Given the description of an element on the screen output the (x, y) to click on. 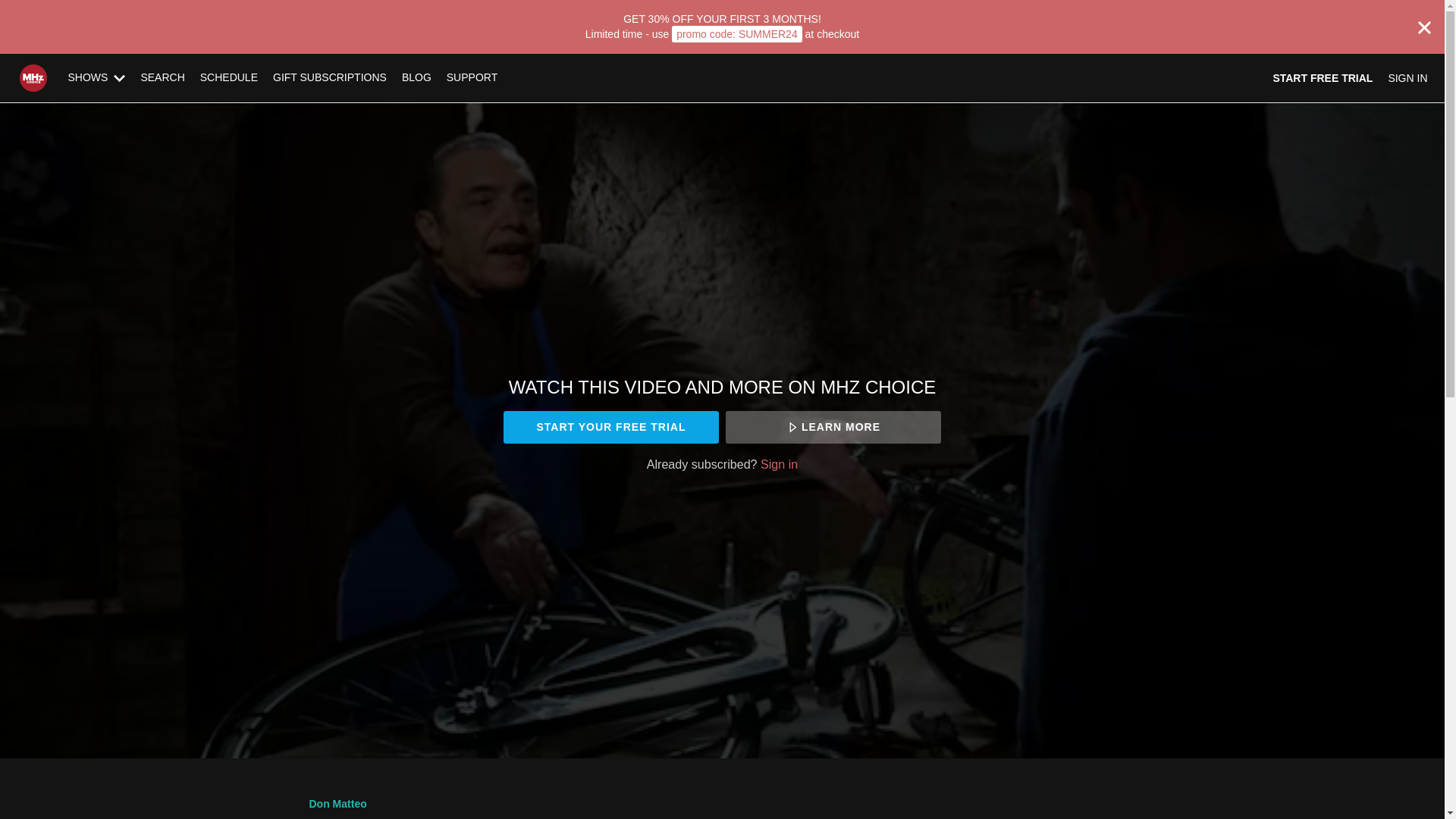
BLOG (416, 77)
START FREE TRIAL (1322, 78)
SHOWS (97, 77)
Sign in (778, 463)
SUPPORT (472, 77)
START YOUR FREE TRIAL (610, 427)
GIFT SUBSCRIPTIONS (329, 77)
SEARCH (162, 77)
LEARN MORE (832, 427)
Skip to main content (48, 7)
SCHEDULE (228, 77)
Don Matteo (337, 803)
SIGN IN (1406, 78)
